Given the description of an element on the screen output the (x, y) to click on. 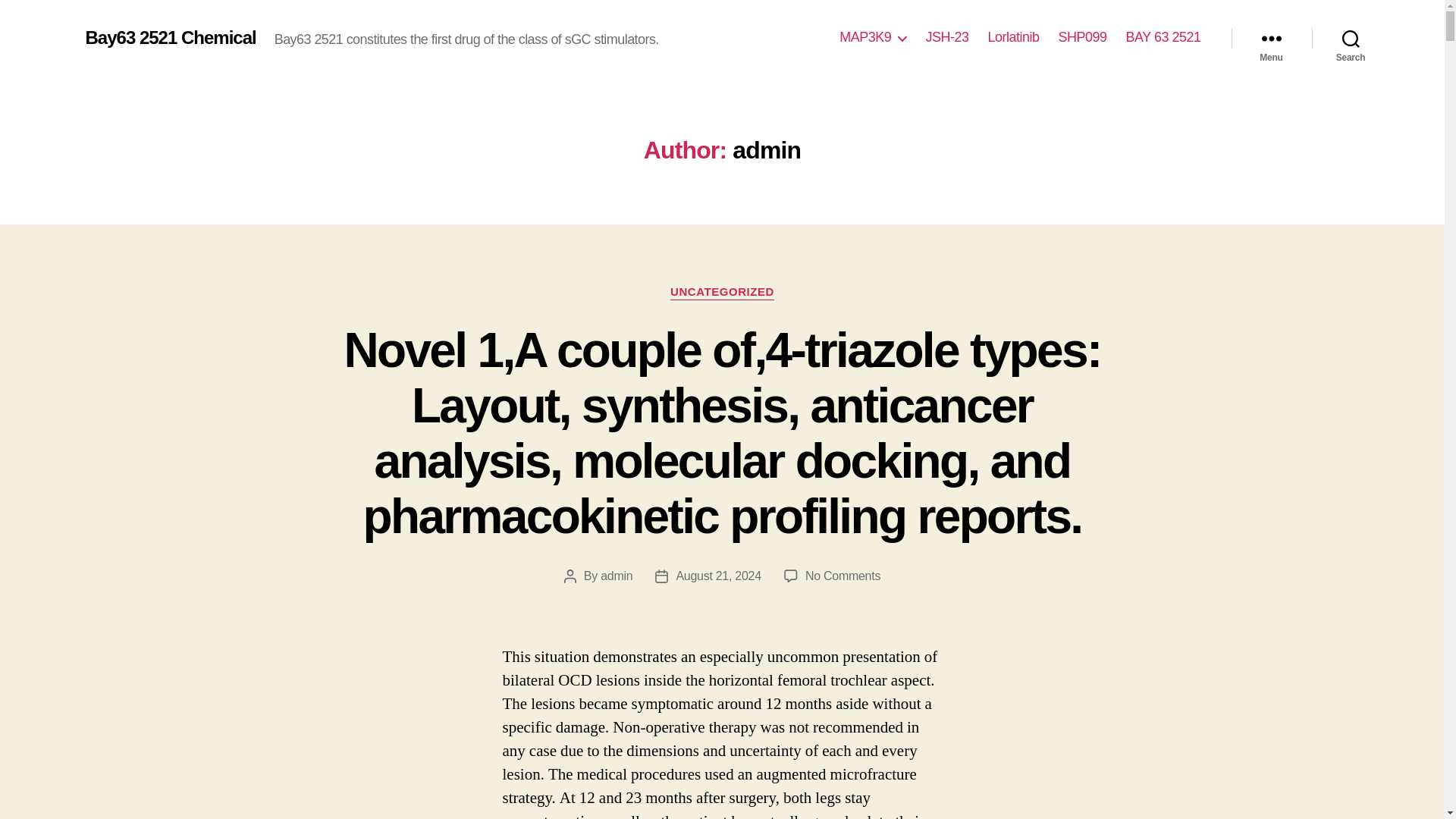
MAP3K9 (872, 37)
Search (1350, 37)
Bay63 2521 Chemical (170, 37)
Menu (1271, 37)
JSH-23 (946, 37)
Lorlatinib (1013, 37)
BAY 63 2521 (1163, 37)
SHP099 (1082, 37)
